Given the description of an element on the screen output the (x, y) to click on. 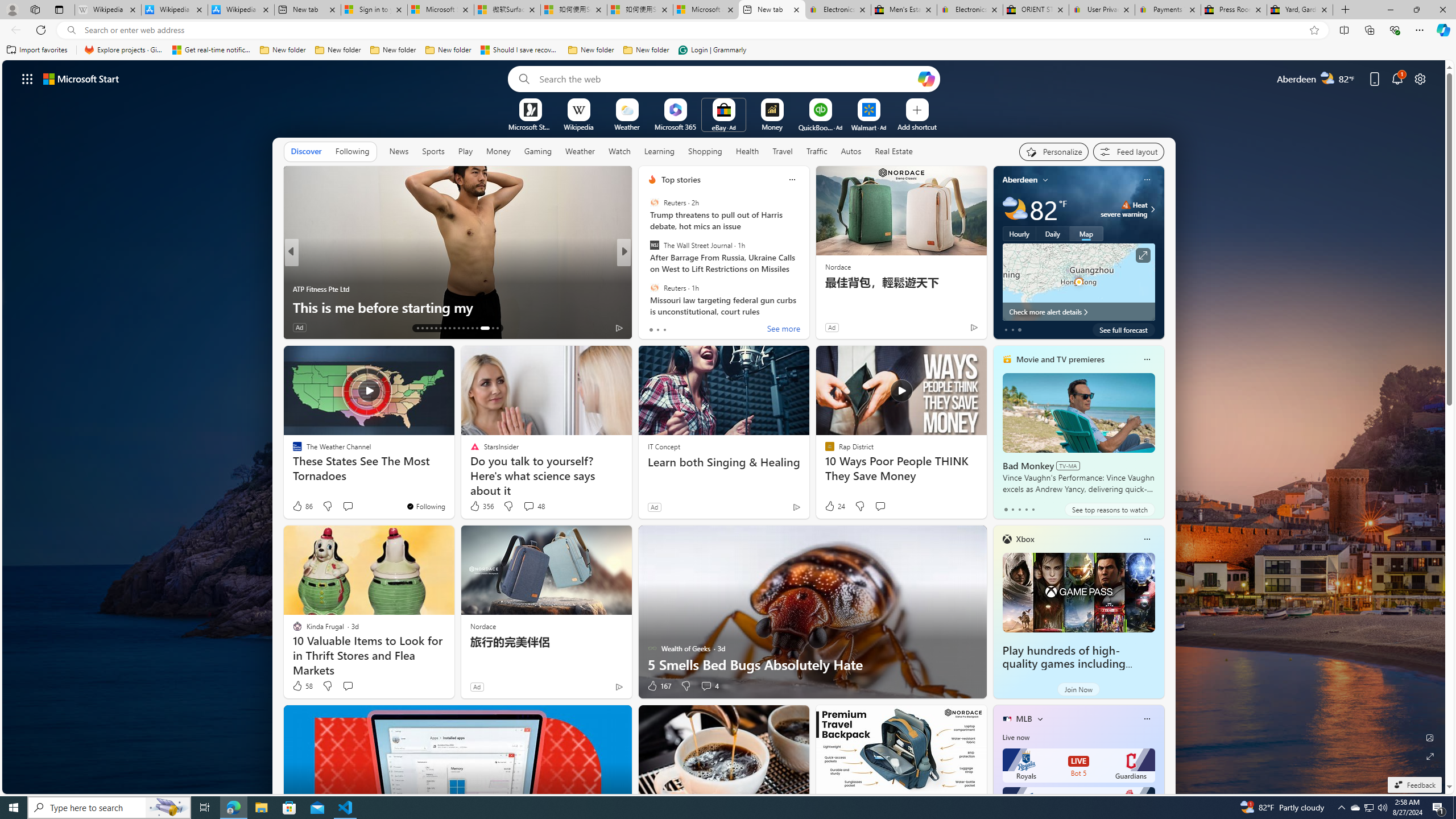
tab-3 (1025, 509)
356 Like (480, 505)
AutomationID: tab-18 (440, 328)
AutomationID: tab-14 (422, 328)
Aberdeen (1019, 179)
